Given the description of an element on the screen output the (x, y) to click on. 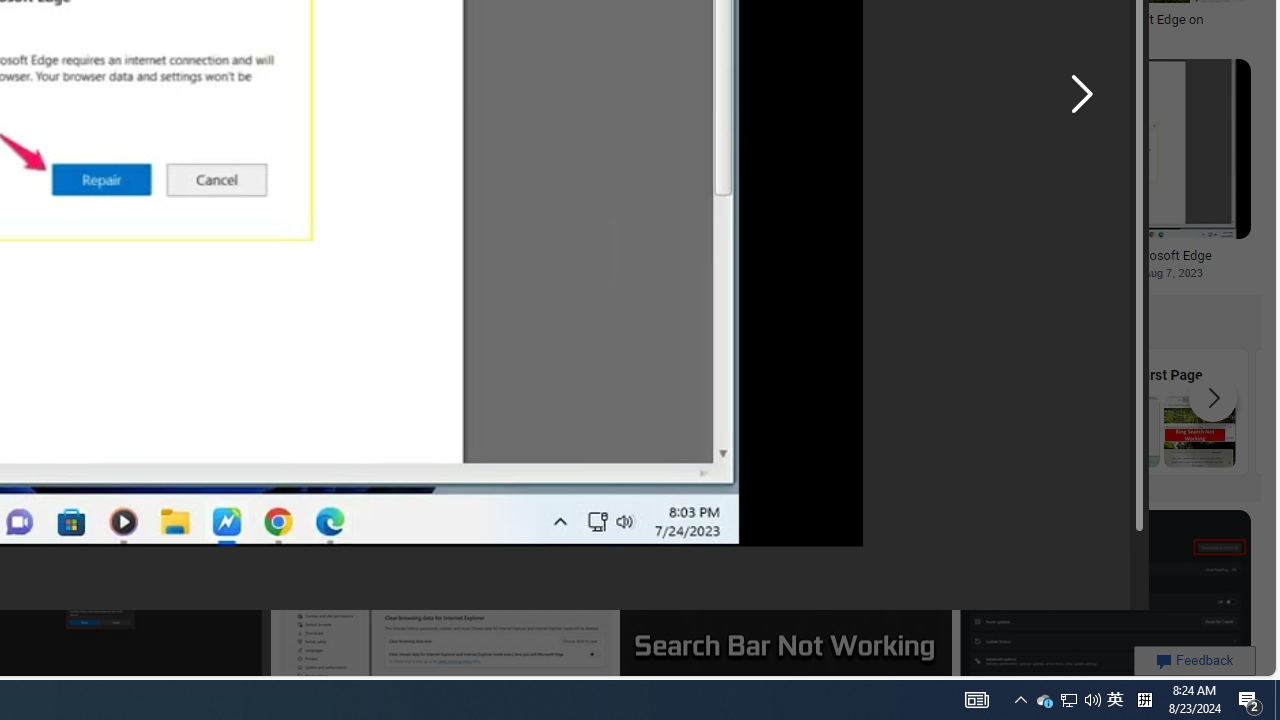
Engine (801, 411)
Video (262, 411)
Bing Search Bar Not Working (622, 431)
Why First Page (1162, 411)
Bing Exact Search Not Working Exact (441, 411)
Exact (441, 411)
Bar (621, 411)
Bing Video Search Not Working Video (262, 411)
Bing Search Engine Not Working (802, 431)
Bing Search Engine Not Working Engine (801, 411)
5:17 (652, 528)
How to fix Bing search not working in Microsoft Edge?Save (513, 173)
Bing Work Search Not Working (981, 431)
